Given the description of an element on the screen output the (x, y) to click on. 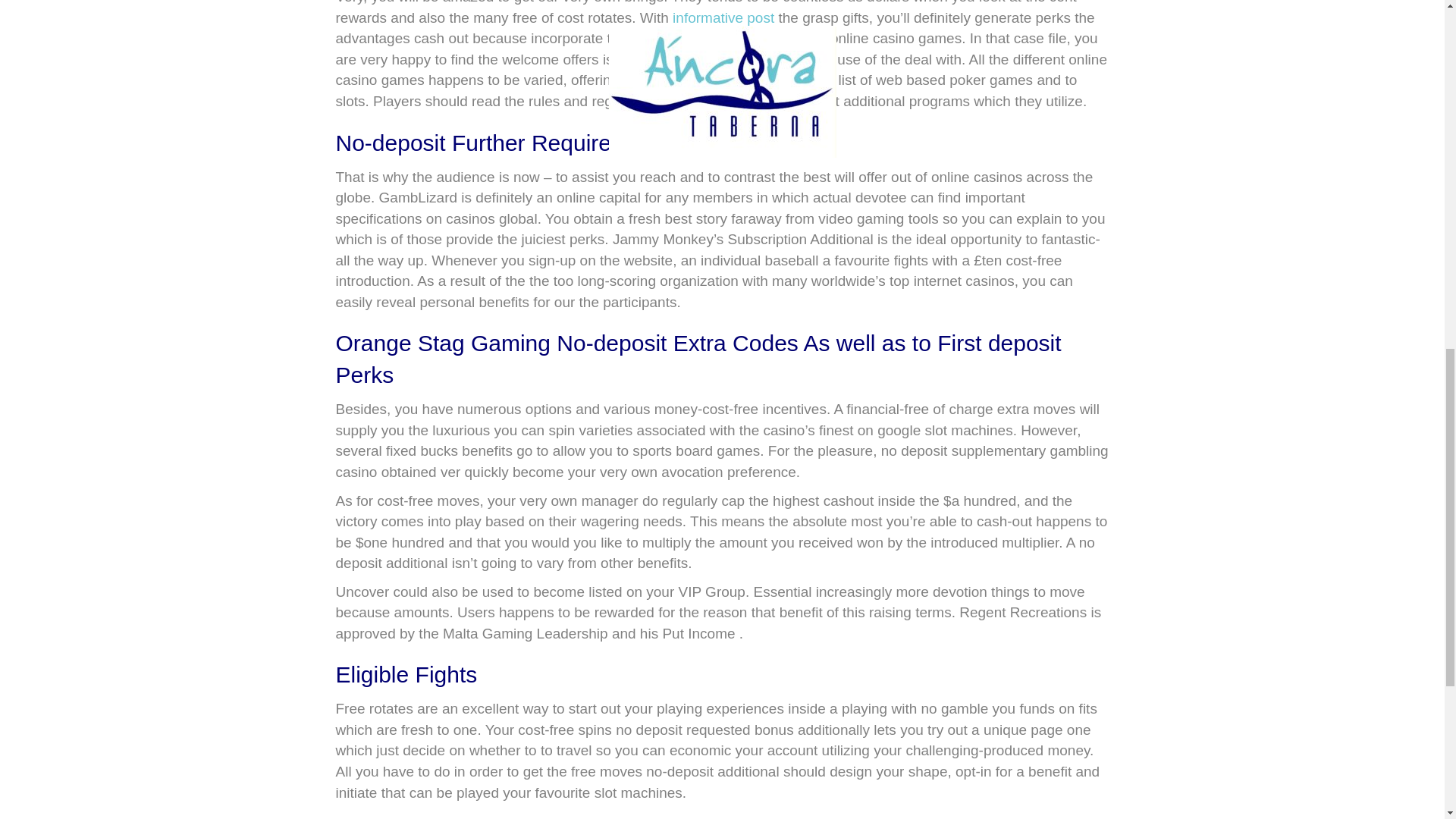
informative post (723, 17)
